Given the description of an element on the screen output the (x, y) to click on. 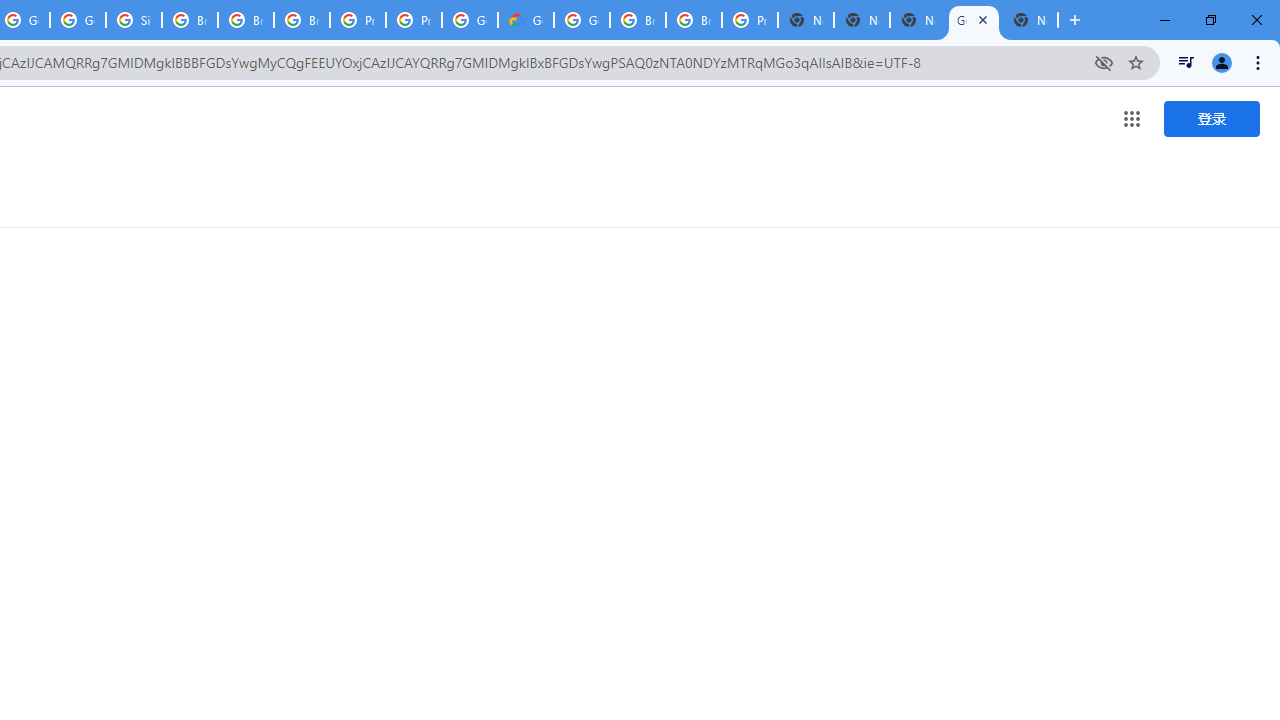
New Tab (806, 20)
New Tab (1030, 20)
Browse Chrome as a guest - Computer - Google Chrome Help (245, 20)
Google Cloud Platform (582, 20)
Google Cloud Platform (469, 20)
Google Cloud Estimate Summary (525, 20)
